Given the description of an element on the screen output the (x, y) to click on. 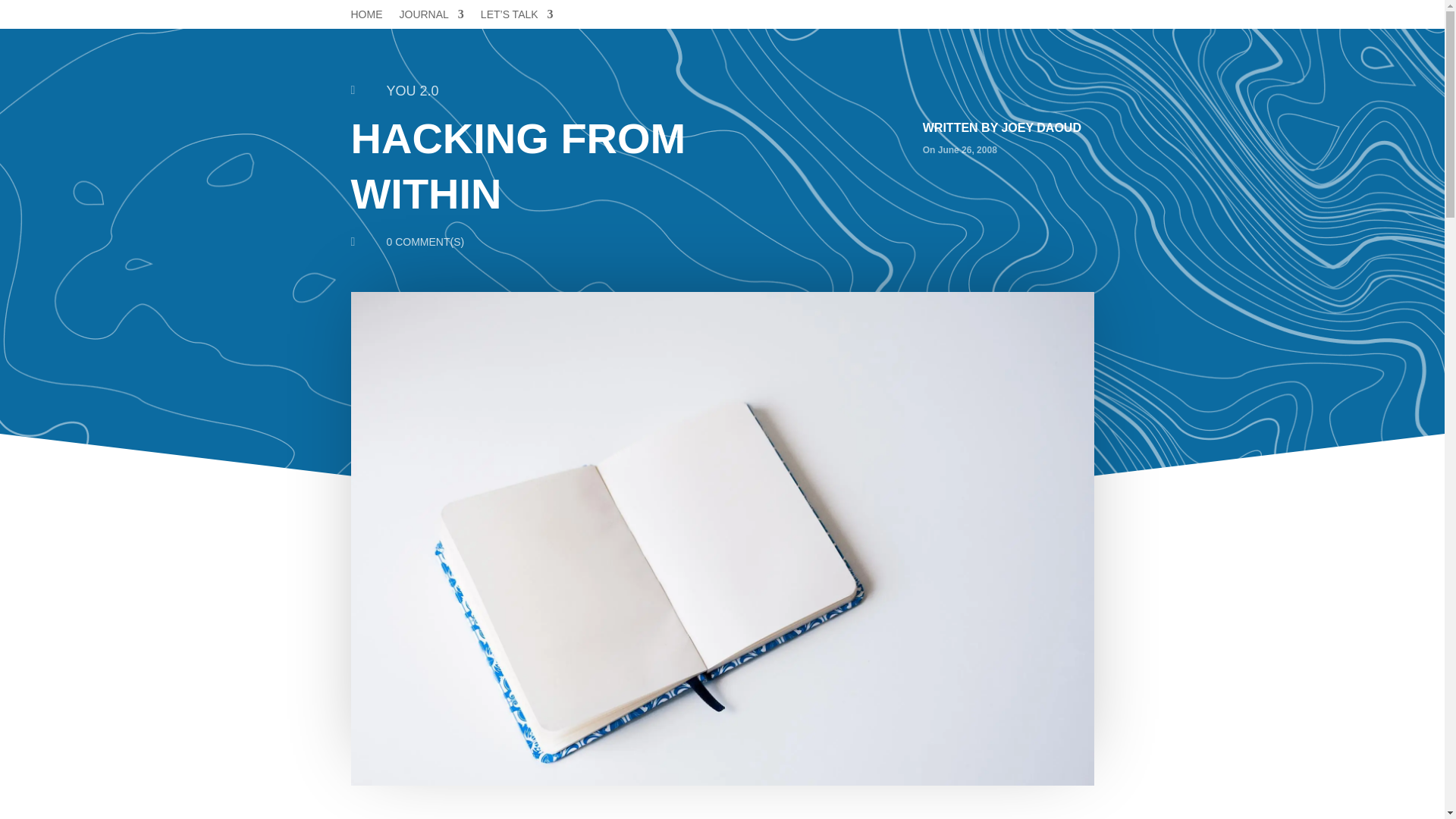
JOEY DAOUD (1041, 127)
YOU 2.0 (413, 90)
HOME (365, 17)
JOURNAL (430, 17)
